Given the description of an element on the screen output the (x, y) to click on. 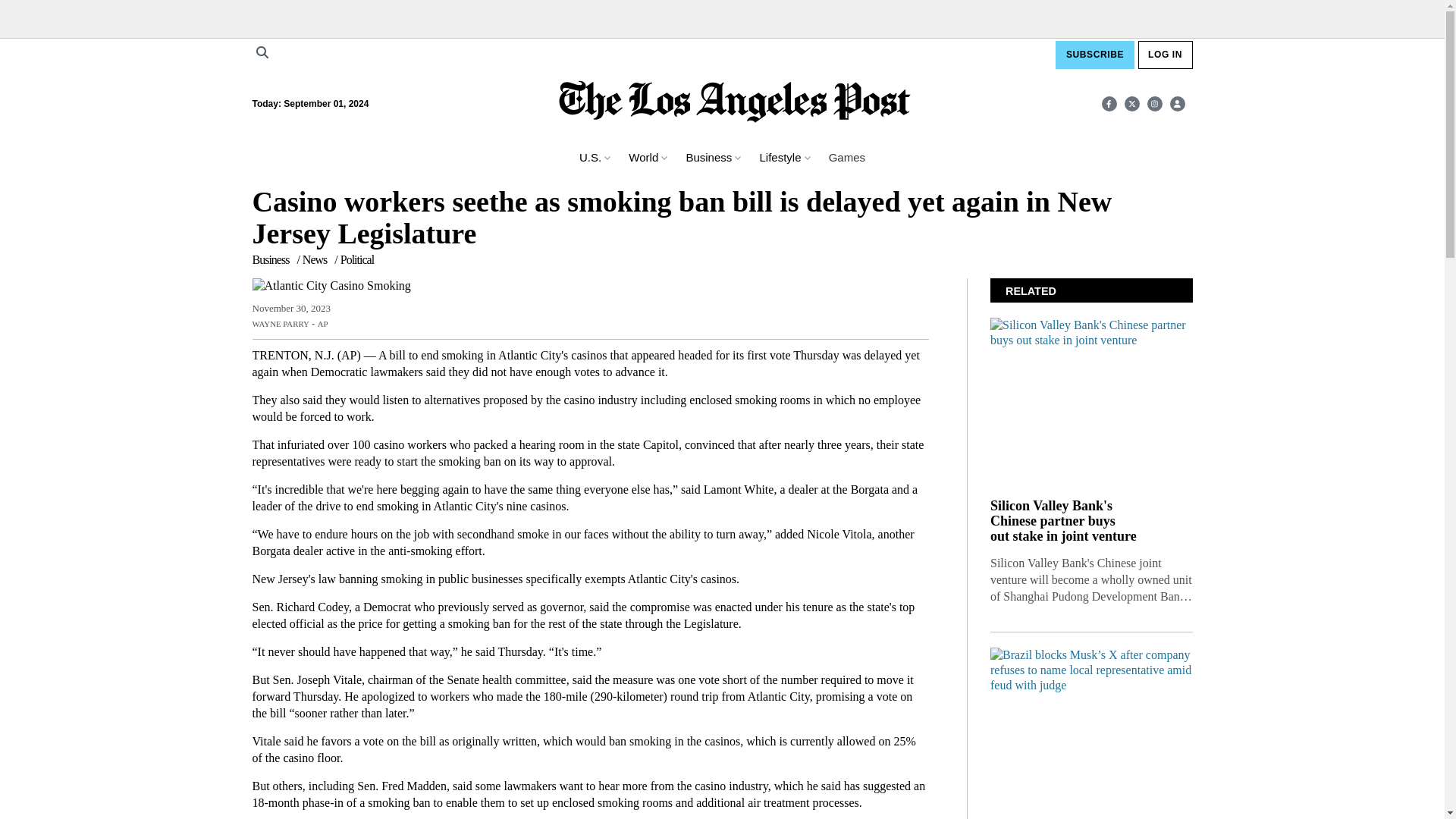
X Twitter (1131, 102)
Facebook (1108, 102)
SUBSCRIBE (1094, 54)
Instagram (1154, 102)
My Account (1177, 102)
The Los Angeles Post (735, 102)
LOG IN (1165, 54)
Games (846, 156)
